Given the description of an element on the screen output the (x, y) to click on. 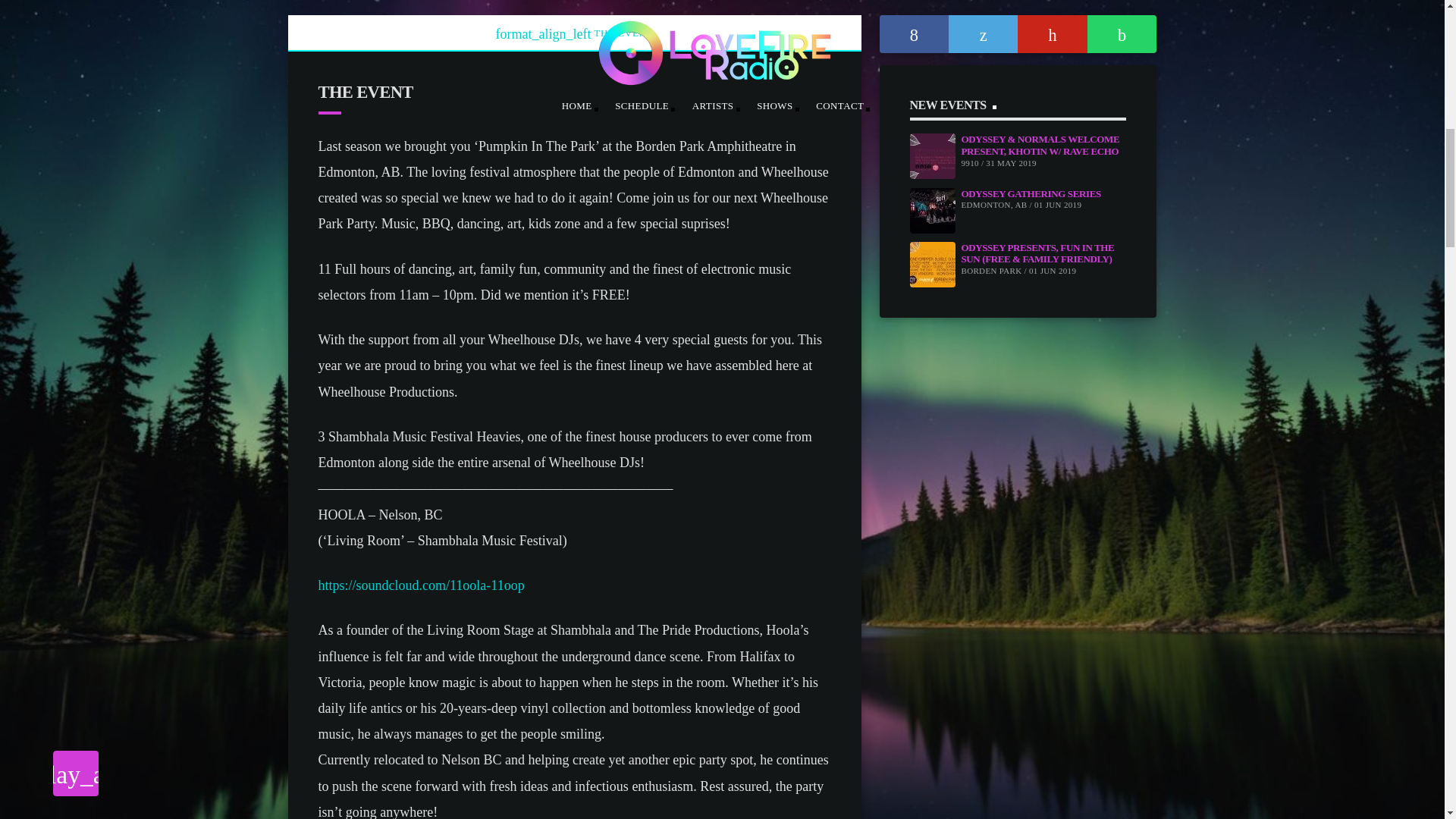
ODYSSEY GATHERING SERIES (1030, 193)
